Given the description of an element on the screen output the (x, y) to click on. 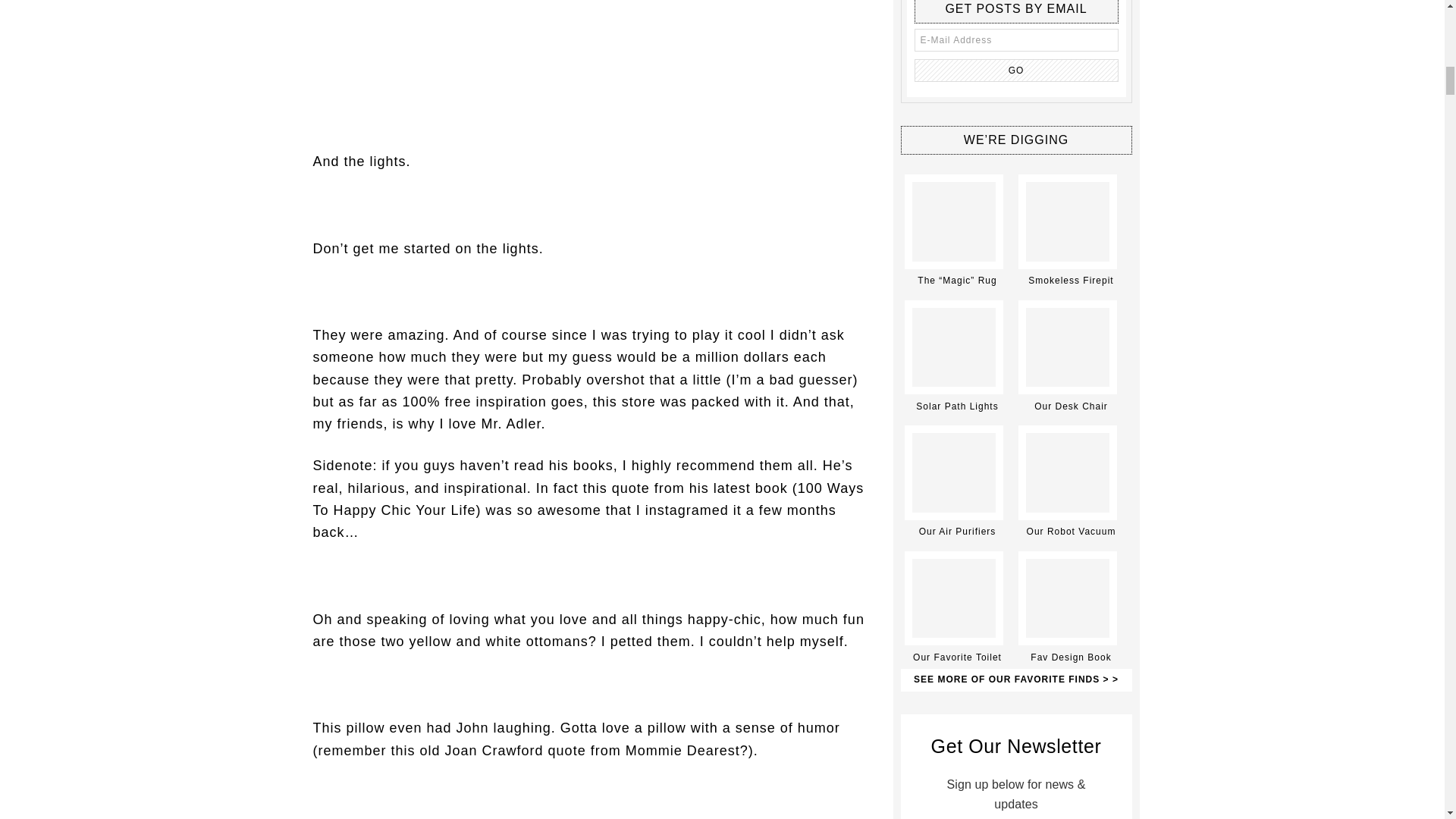
Go (1016, 69)
